Given the description of an element on the screen output the (x, y) to click on. 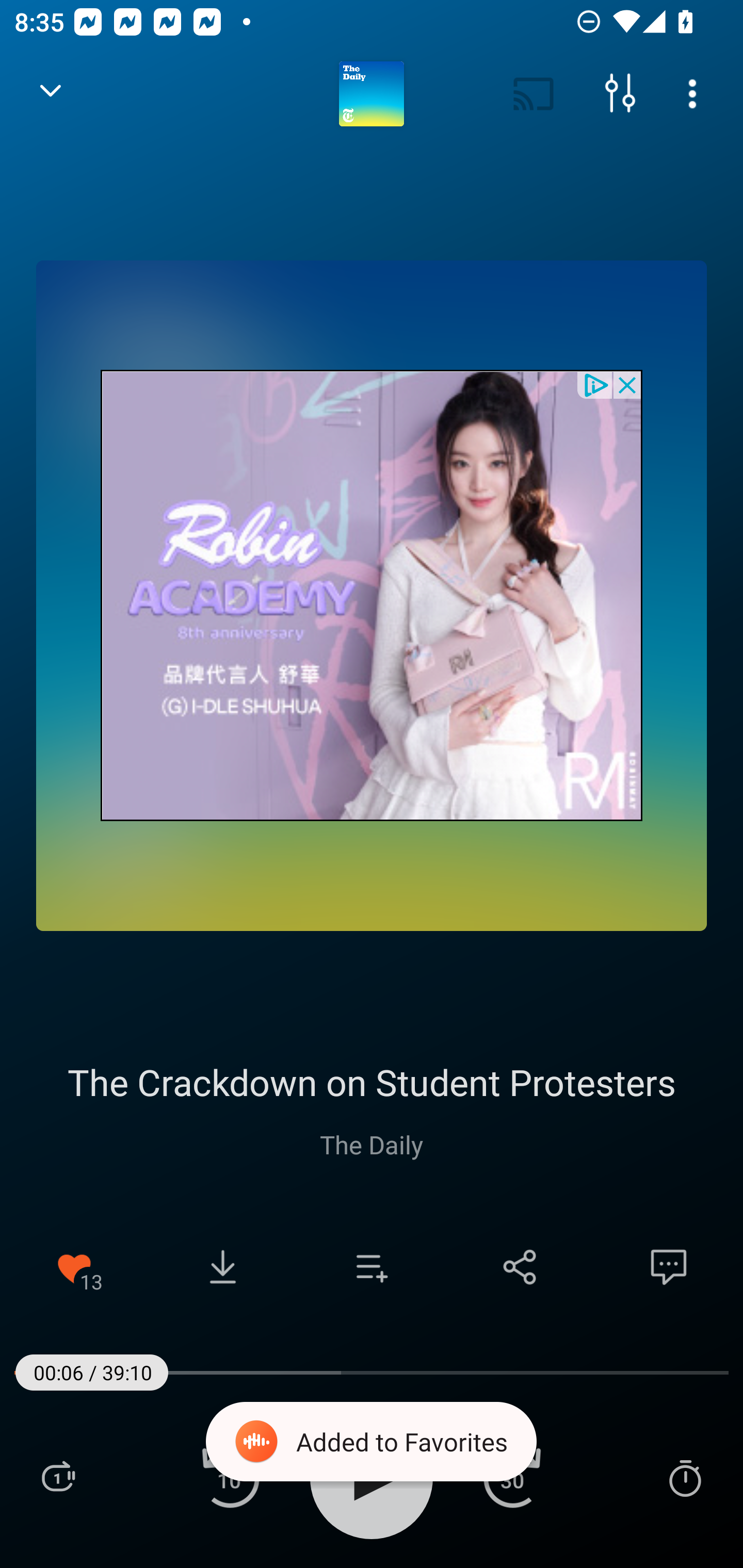
Cast. Disconnected (533, 93)
 Back (50, 94)
privacy_small (595, 384)
close_button (627, 384)
The Crackdown on Student Protesters (371, 1081)
The Daily (371, 1144)
Comments (668, 1266)
Remove from Favorites (73, 1266)
Add to playlist (371, 1266)
Share (519, 1266)
 Playlist (57, 1477)
Sleep Timer  (684, 1477)
